Given the description of an element on the screen output the (x, y) to click on. 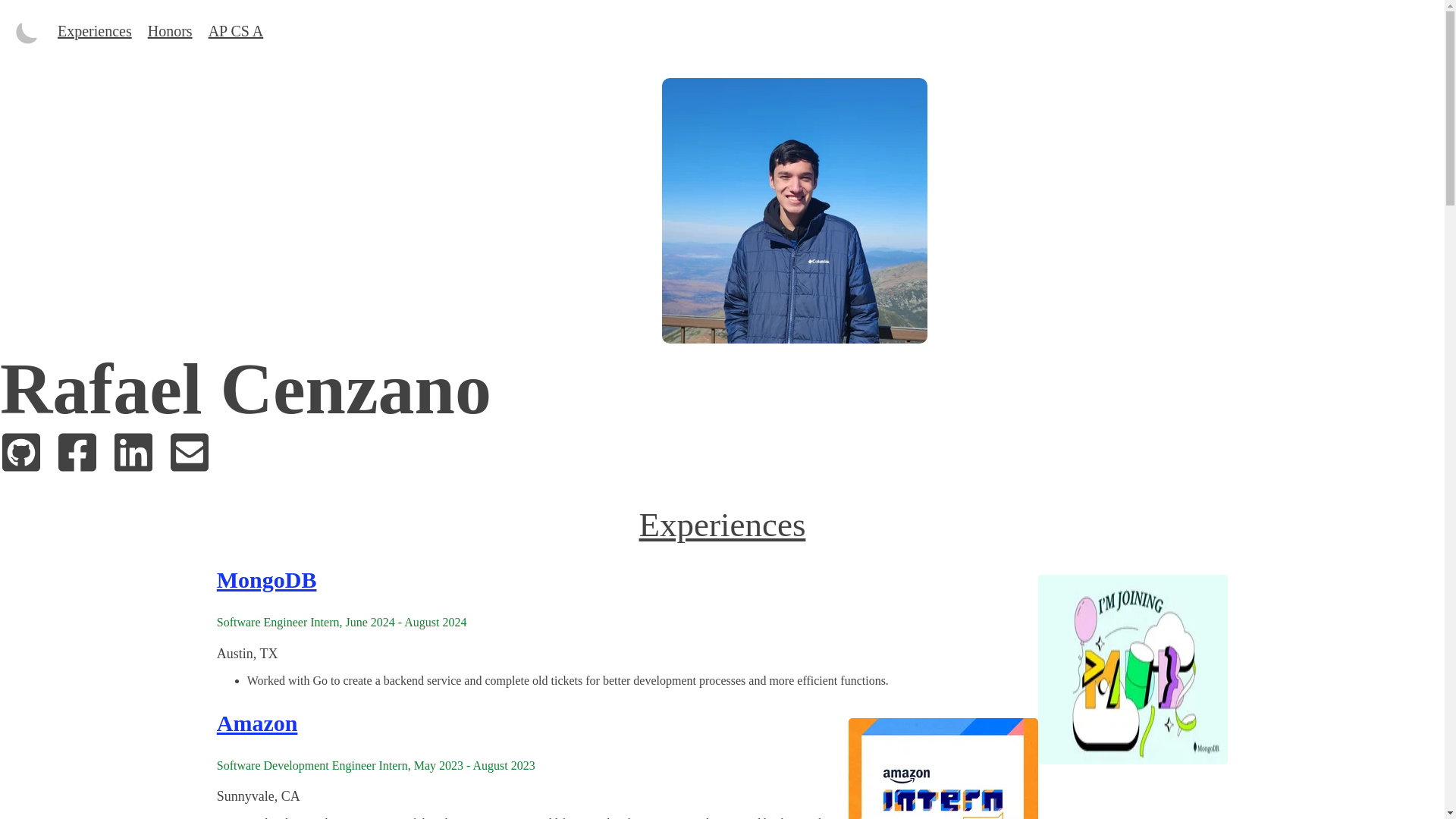
MongoDB (266, 579)
Amazon (257, 722)
AP CS A (235, 30)
Honors (170, 30)
Experiences (95, 30)
